Given the description of an element on the screen output the (x, y) to click on. 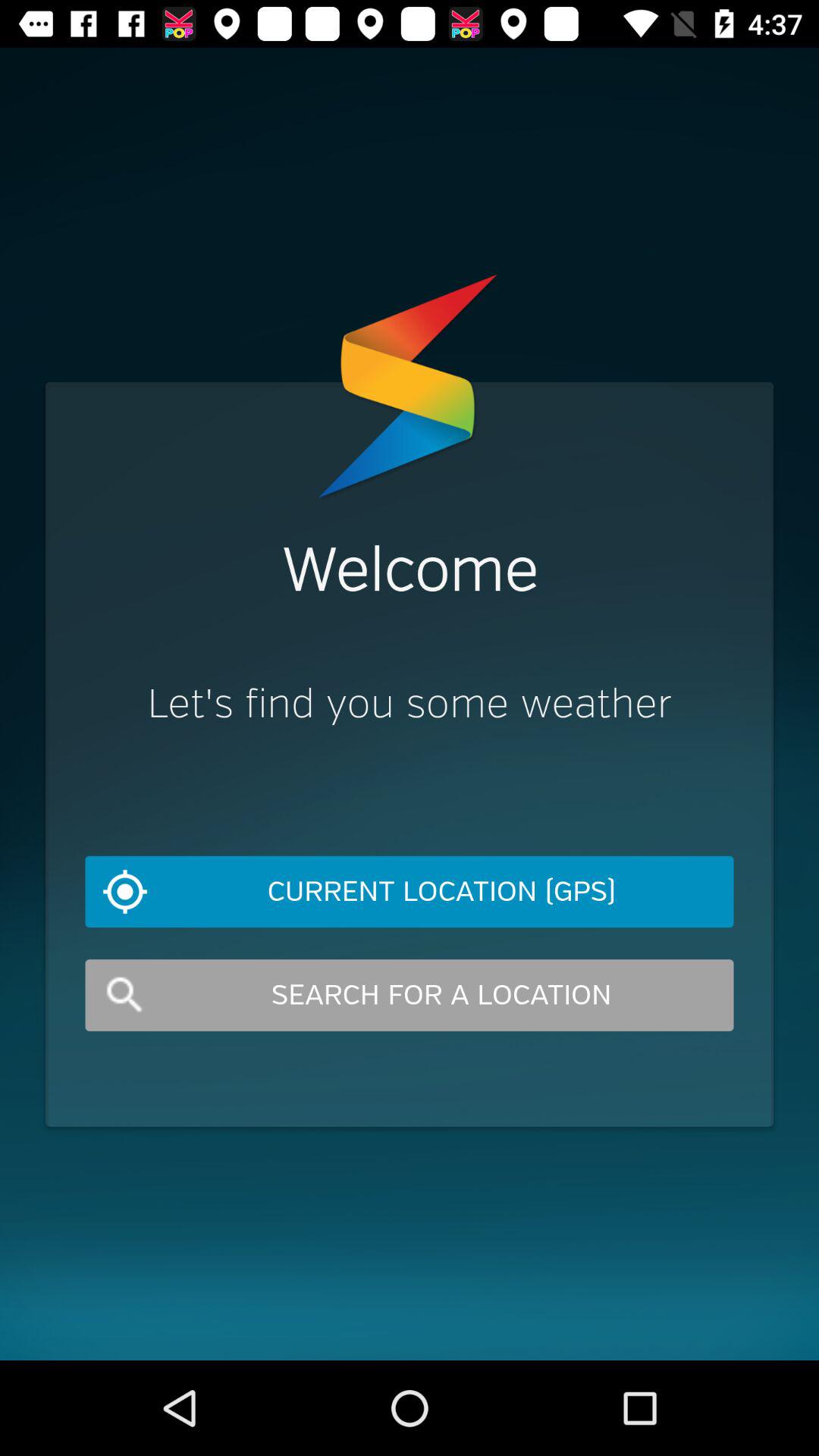
swipe until the current location (gps) icon (409, 891)
